Given the description of an element on the screen output the (x, y) to click on. 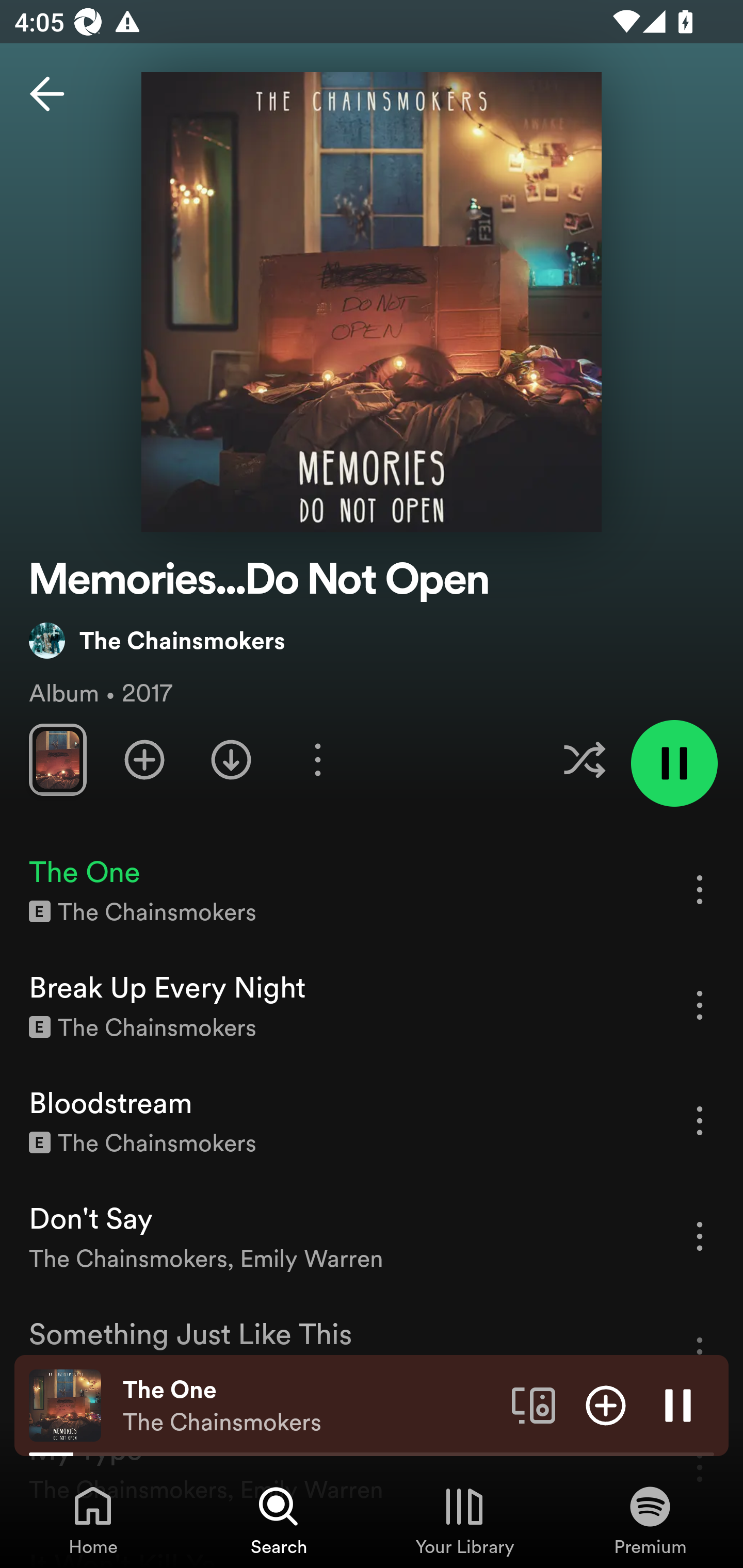
Back (46, 93)
The Chainsmokers (156, 640)
Swipe through previews of tracks from this album. (57, 759)
Add playlist to Your Library (144, 759)
Download (230, 759)
More options for playlist Memories...Do Not Open (317, 759)
Enable shuffle for this playlist (583, 759)
Pause playlist (674, 763)
More options for song The One (699, 889)
More options for song Break Up Every Night (699, 1004)
More options for song Bloodstream (699, 1120)
More options for song Don't Say (699, 1236)
The One The Chainsmokers (309, 1405)
The cover art of the currently playing track (64, 1404)
Connect to a device. Opens the devices menu (533, 1404)
Add item (605, 1404)
Pause (677, 1404)
Home, Tab 1 of 4 Home Home (92, 1519)
Search, Tab 2 of 4 Search Search (278, 1519)
Your Library, Tab 3 of 4 Your Library Your Library (464, 1519)
Premium, Tab 4 of 4 Premium Premium (650, 1519)
